Given the description of an element on the screen output the (x, y) to click on. 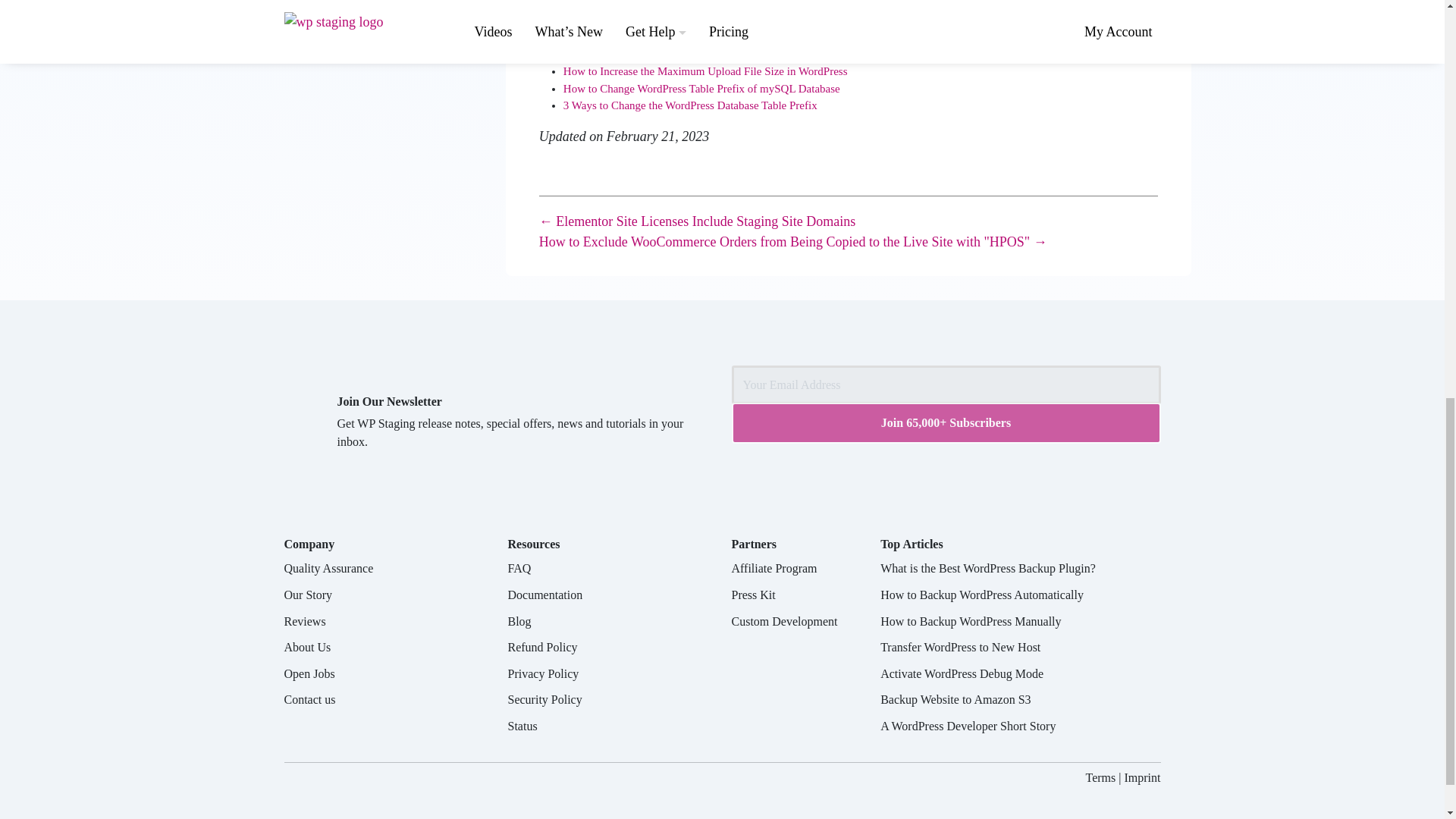
3 Ways to Change the WordPress Database Table Prefix (689, 105)
How to Increase the Maximum Upload File Size in WordPress (705, 70)
About Us (306, 646)
How to Increase PHP Max Input Vars Limit in WordPress (694, 54)
How to Change WordPress Table Prefix of mySQL Database (701, 88)
Quality Assurance (327, 567)
Open Jobs (308, 673)
Our Story (307, 594)
Reviews (303, 621)
